Given the description of an element on the screen output the (x, y) to click on. 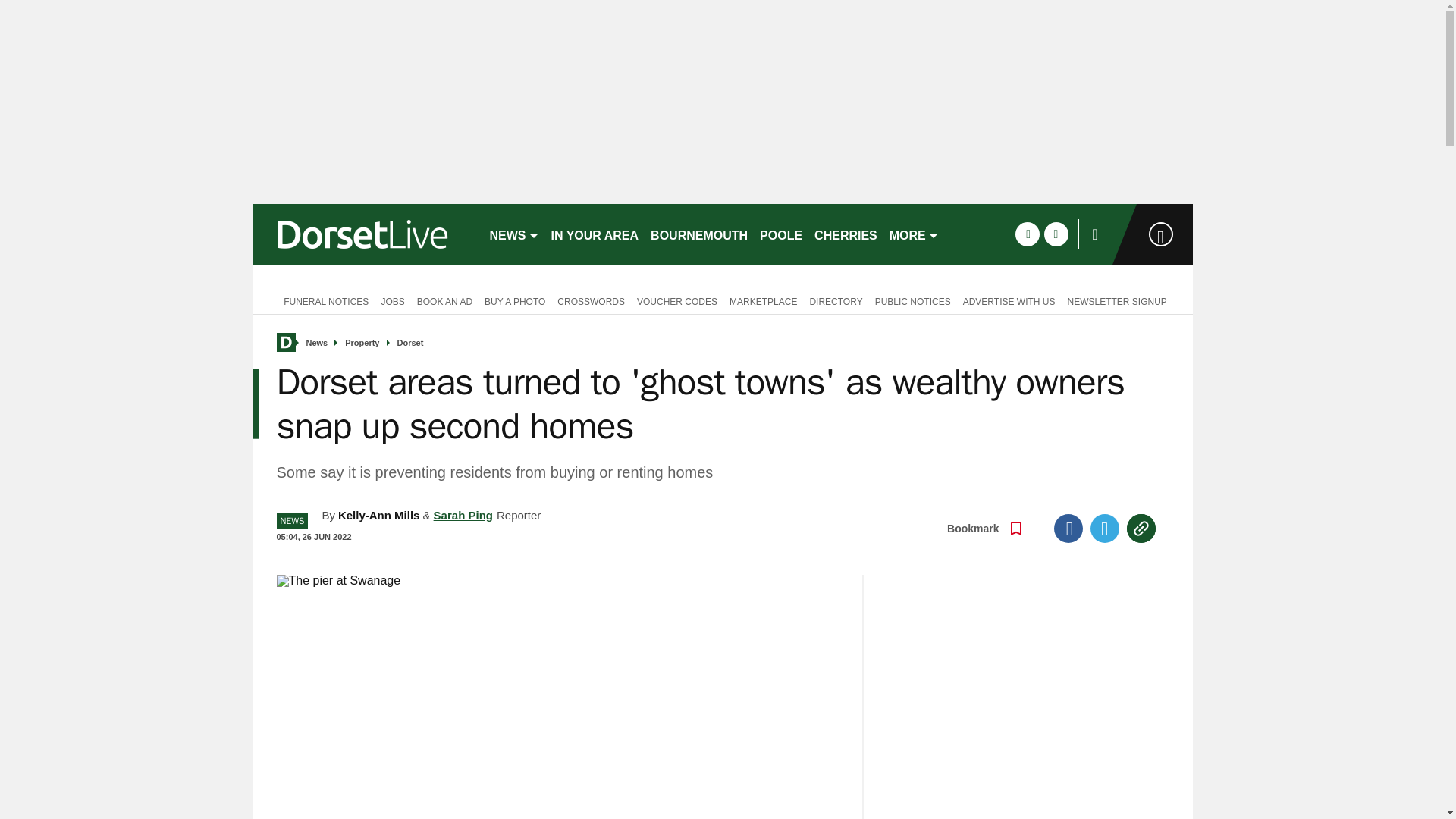
FUNERAL NOTICES (322, 300)
CHERRIES (845, 233)
BOURNEMOUTH (699, 233)
IN YOUR AREA (594, 233)
MORE (913, 233)
Facebook (1068, 528)
CROSSWORDS (590, 300)
JOBS (392, 300)
MARKETPLACE (763, 300)
VOUCHER CODES (676, 300)
POOLE (781, 233)
dorsetlive (363, 233)
BUY A PHOTO (515, 300)
DIRECTORY (835, 300)
Twitter (1104, 528)
